Given the description of an element on the screen output the (x, y) to click on. 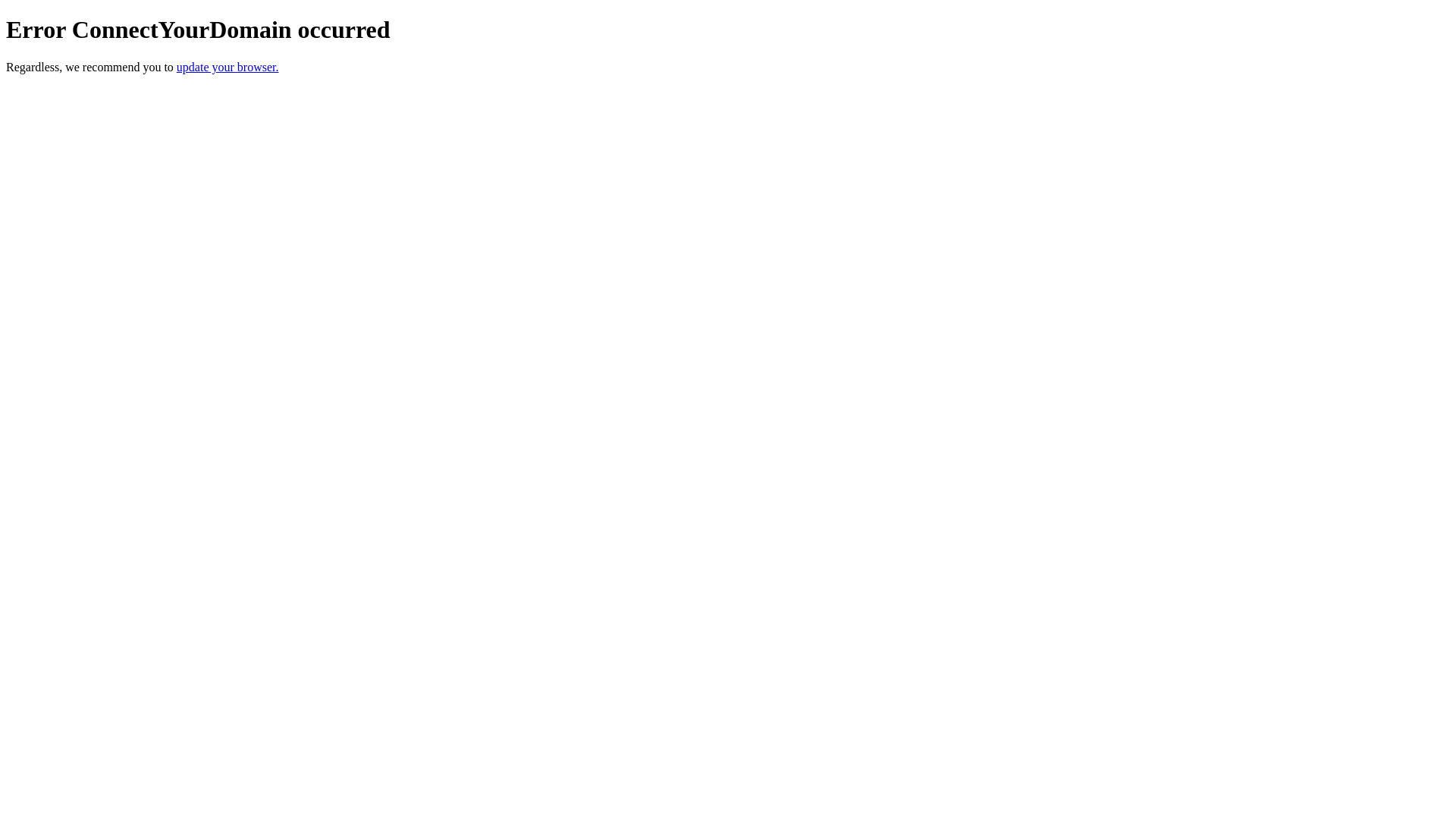
update your browser. Element type: text (227, 66)
